Given the description of an element on the screen output the (x, y) to click on. 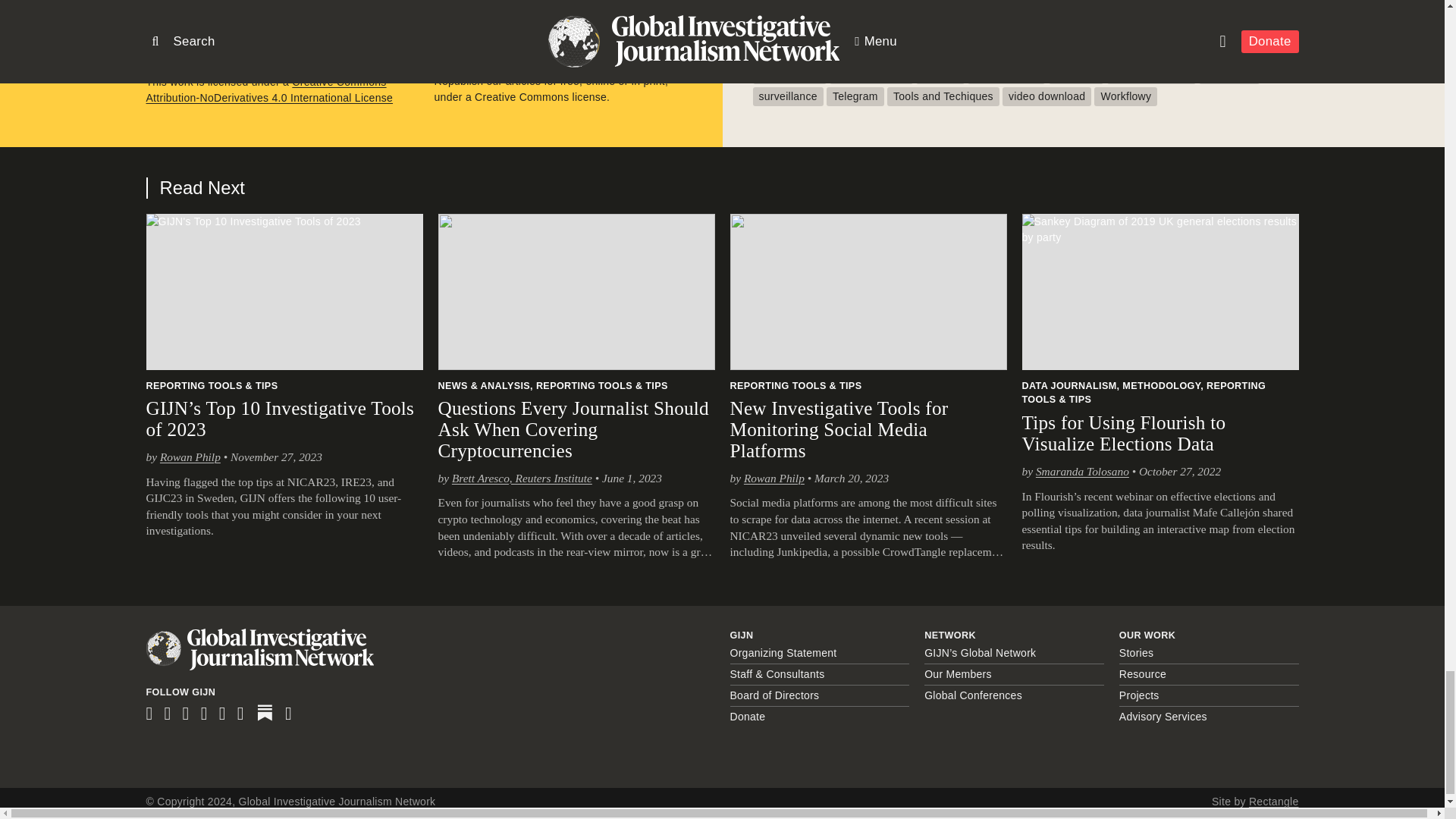
Read other stories tagged with Workflowy (1125, 96)
Read other stories tagged with Silverman (1229, 74)
Read other stories tagged with Hunch.ly (1075, 74)
Read other stories tagged with video download (1046, 96)
Read other stories tagged with flourish (939, 74)
Read other stories tagged with Telegram (855, 96)
Read other stories tagged with surveillance (787, 96)
Read other stories tagged with satellite images (1150, 74)
Read other stories tagged with Tools and Techiques (942, 96)
Read other stories tagged with Crowdtangle (789, 74)
Read other stories tagged with Google Voice (1006, 74)
Read other stories tagged with digital hygiene (870, 74)
